Given the description of an element on the screen output the (x, y) to click on. 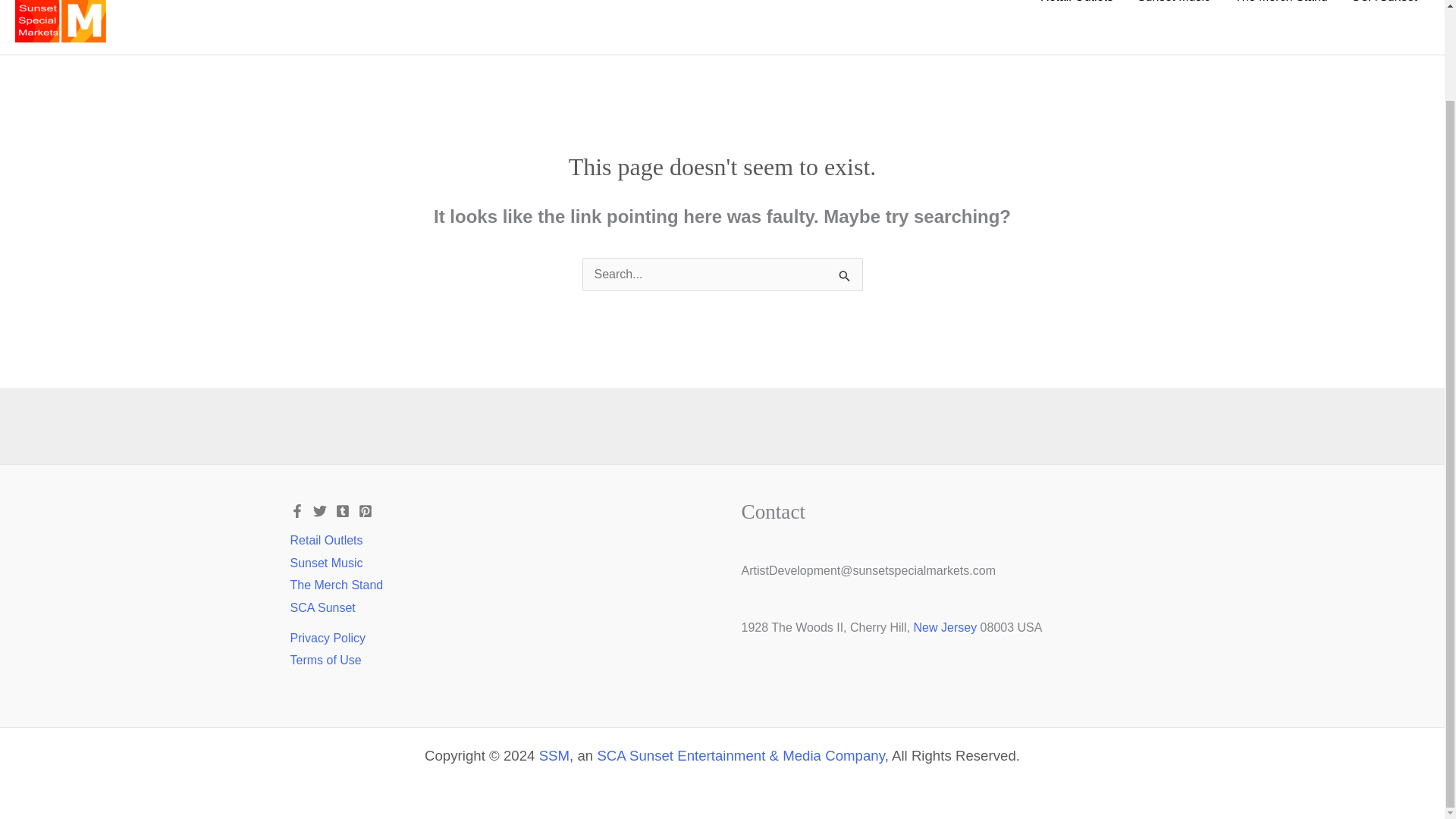
Search (844, 275)
New Jersey (945, 626)
Sunset Music (1174, 11)
Search (844, 275)
Retail Outlets (1076, 11)
Retail Outlets (325, 540)
Terms of Use (325, 659)
The Merch Stand (335, 585)
SSM (553, 755)
Search (844, 275)
SCA Sunset (322, 608)
SCA Sunset (1384, 11)
Privacy Policy (327, 637)
Sunset Music (325, 563)
The Merch Stand (1281, 11)
